Given the description of an element on the screen output the (x, y) to click on. 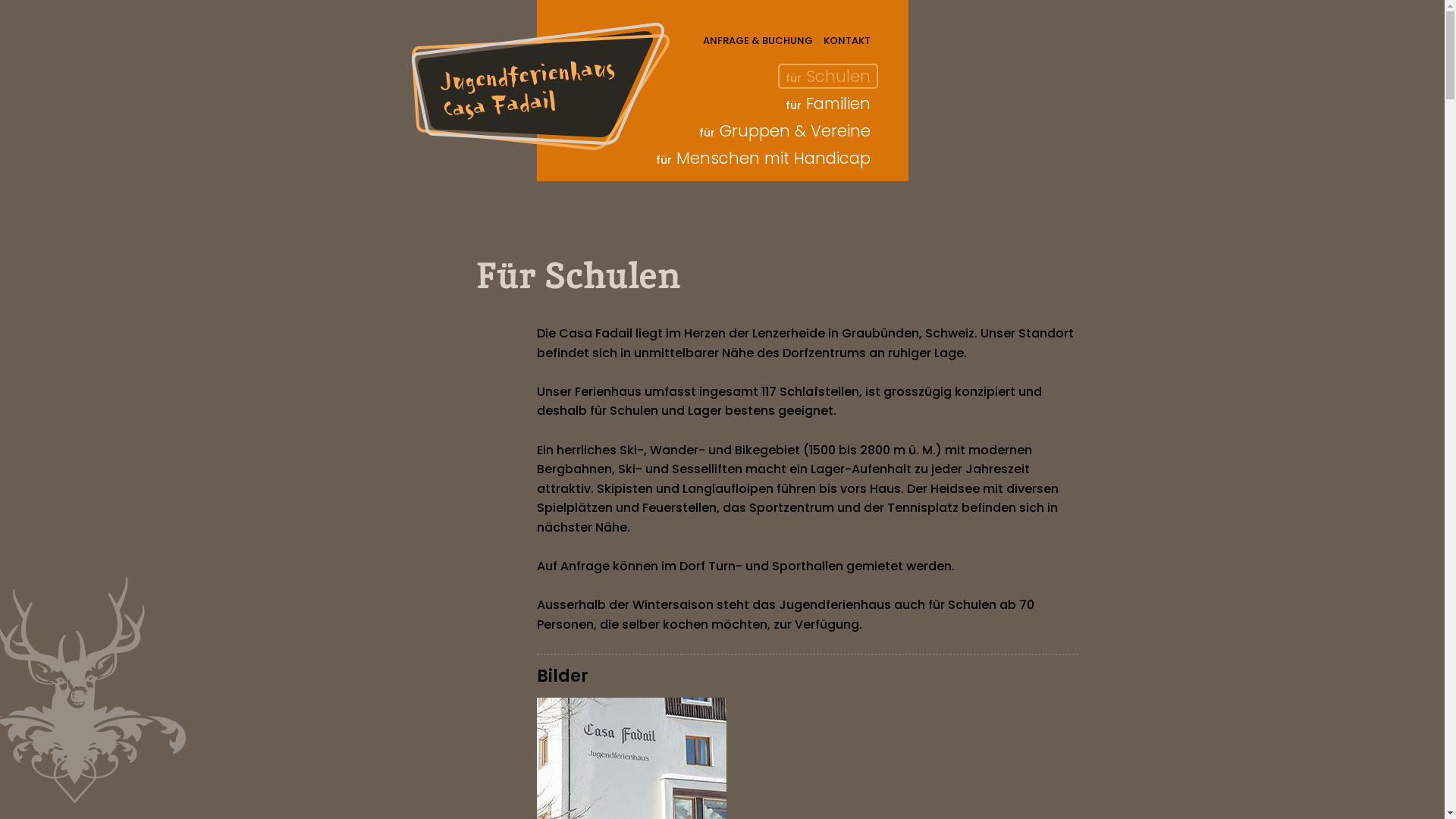
ANFRAGE & BUCHUNG Element type: text (757, 40)
KONTAKT Element type: text (846, 40)
